Given the description of an element on the screen output the (x, y) to click on. 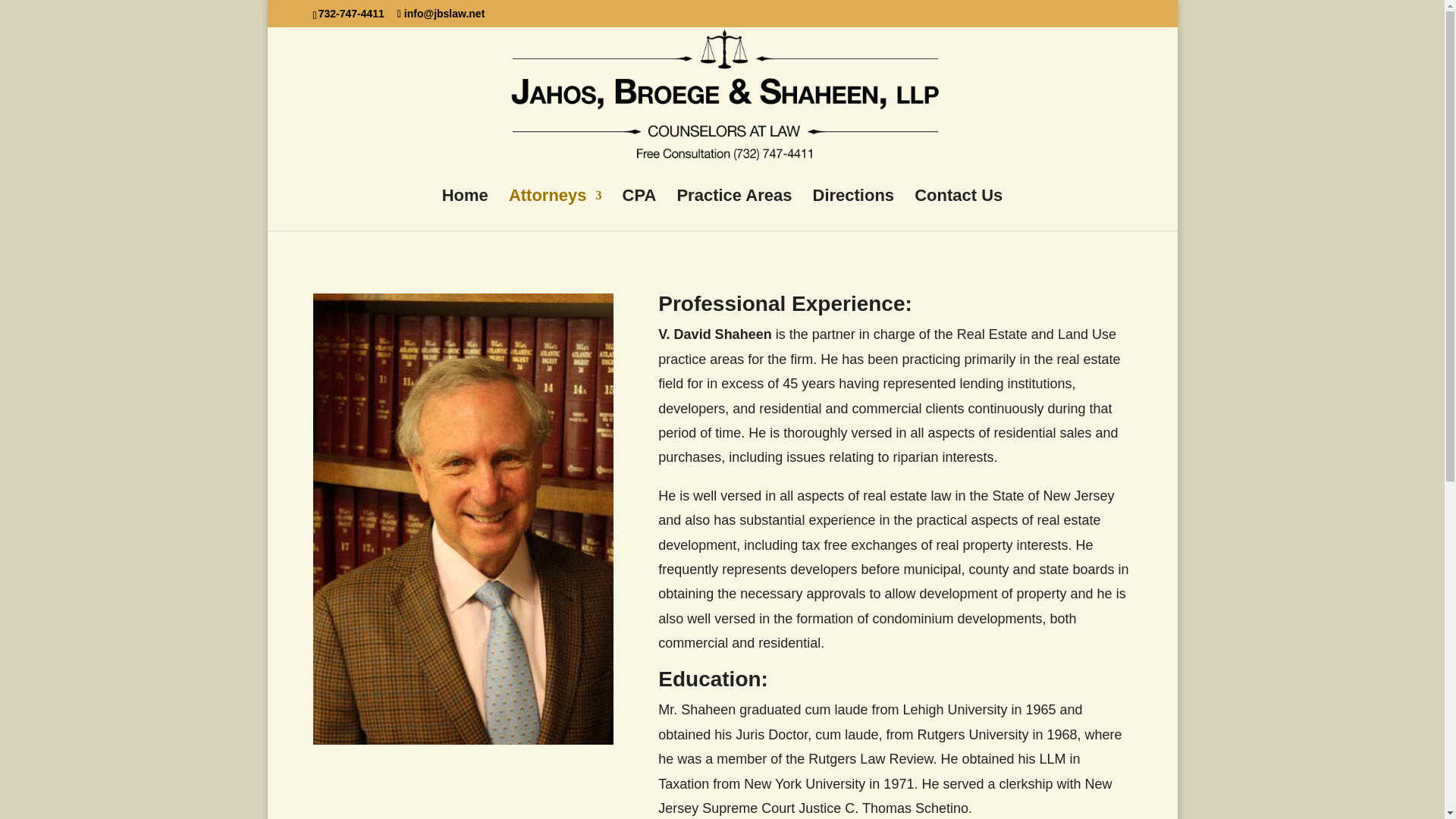
Attorneys (555, 210)
Practice Areas (734, 210)
Directions (853, 210)
Contact Us (958, 210)
Home (464, 210)
